Given the description of an element on the screen output the (x, y) to click on. 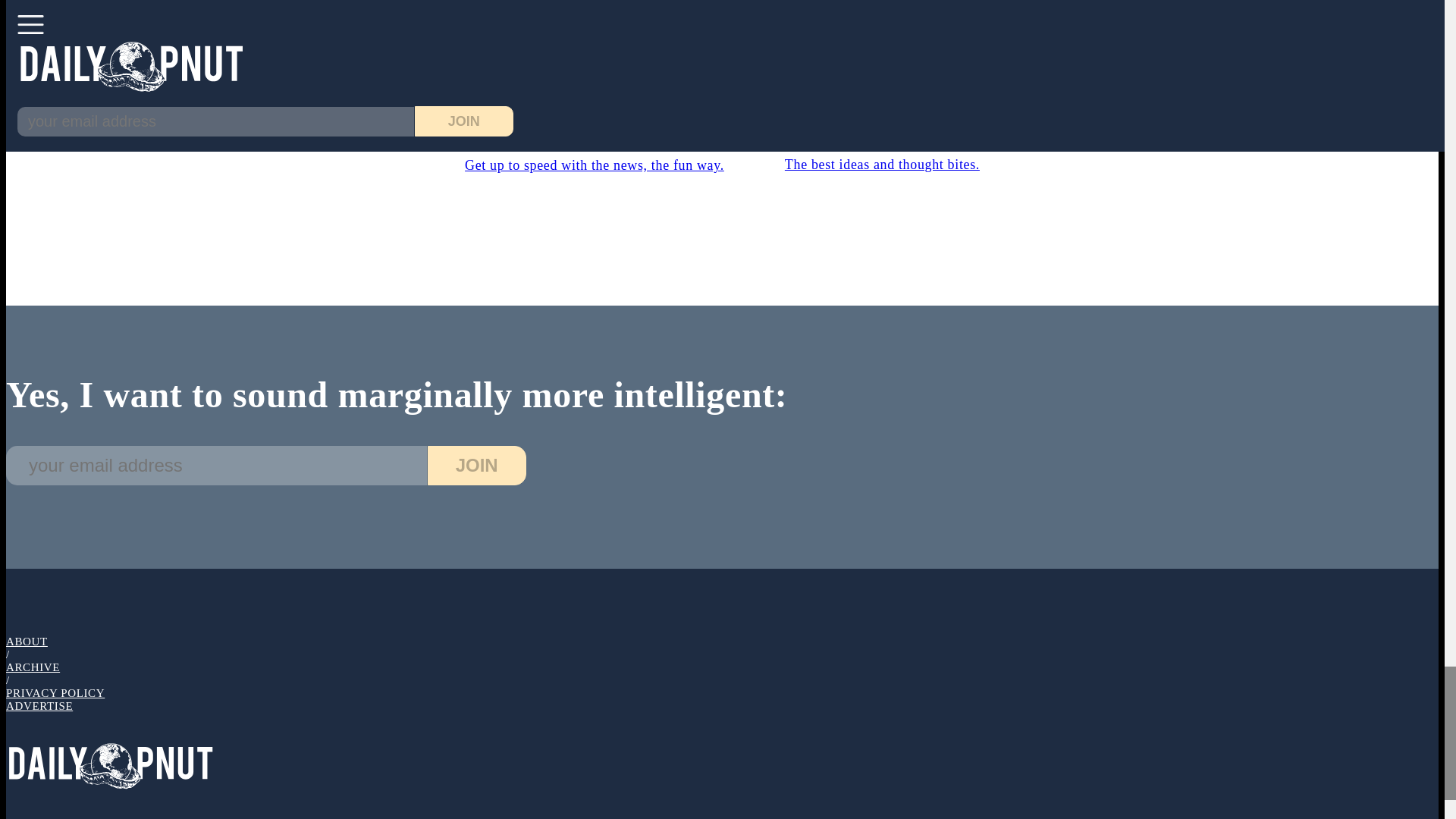
JOIN (593, 119)
